Given the description of an element on the screen output the (x, y) to click on. 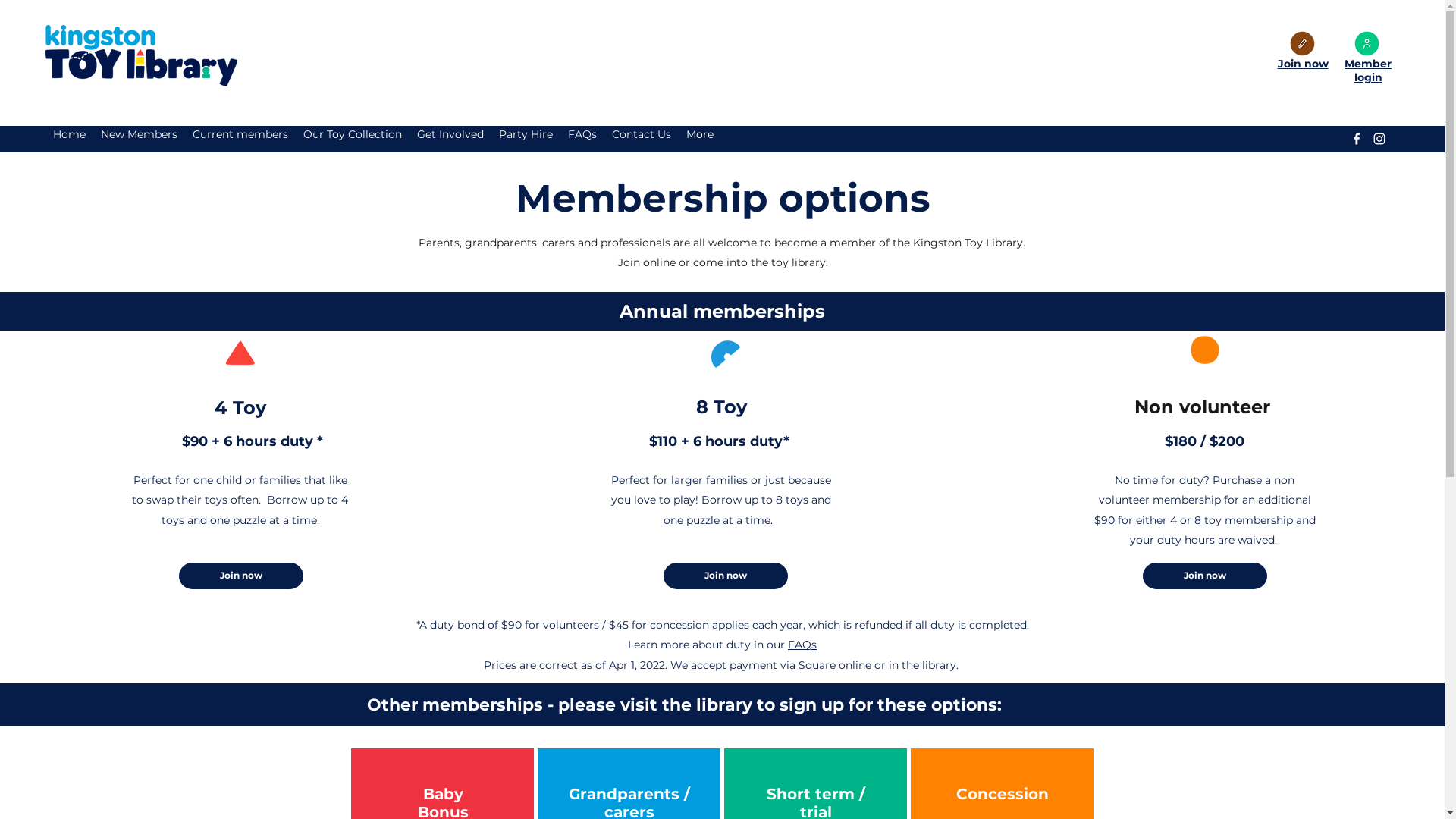
Member login Element type: text (1367, 70)
Join now Element type: text (1204, 575)
Party Hire Element type: text (525, 138)
Join now Element type: text (240, 575)
Contact Us Element type: text (641, 138)
Home Element type: text (69, 138)
FAQs Element type: text (582, 138)
Our Toy Collection Element type: text (352, 138)
New Members Element type: text (139, 138)
FAQs Element type: text (801, 644)
Get Involved Element type: text (450, 138)
Current members Element type: text (240, 138)
Join now Element type: text (1302, 63)
Join now Element type: text (725, 575)
